Given the description of an element on the screen output the (x, y) to click on. 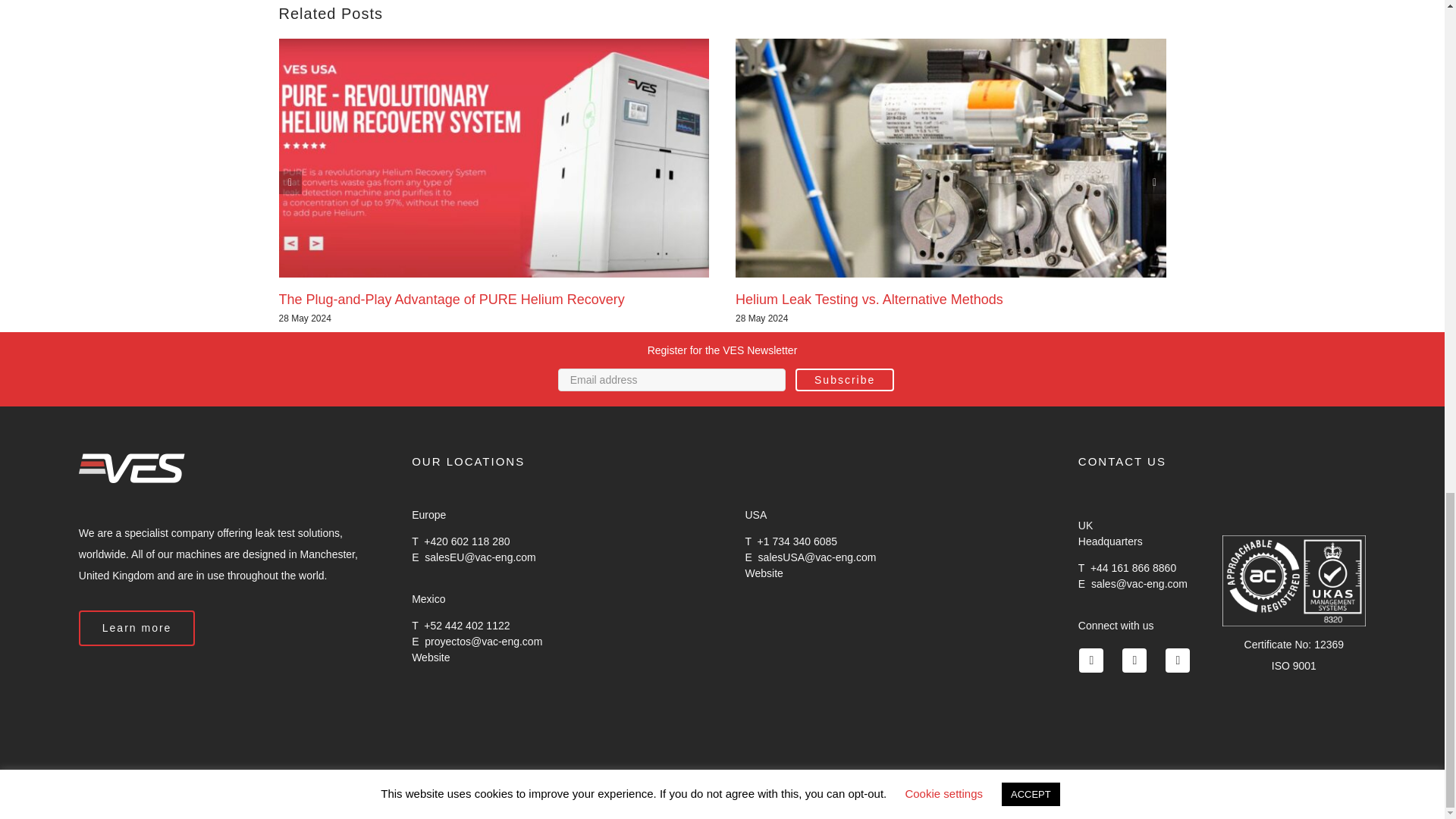
The Plug-and-Play Advantage of PURE Helium Recovery (451, 299)
Helium Leak Testing vs. Alternative Methods (869, 299)
Subscribe (843, 379)
